Given the description of an element on the screen output the (x, y) to click on. 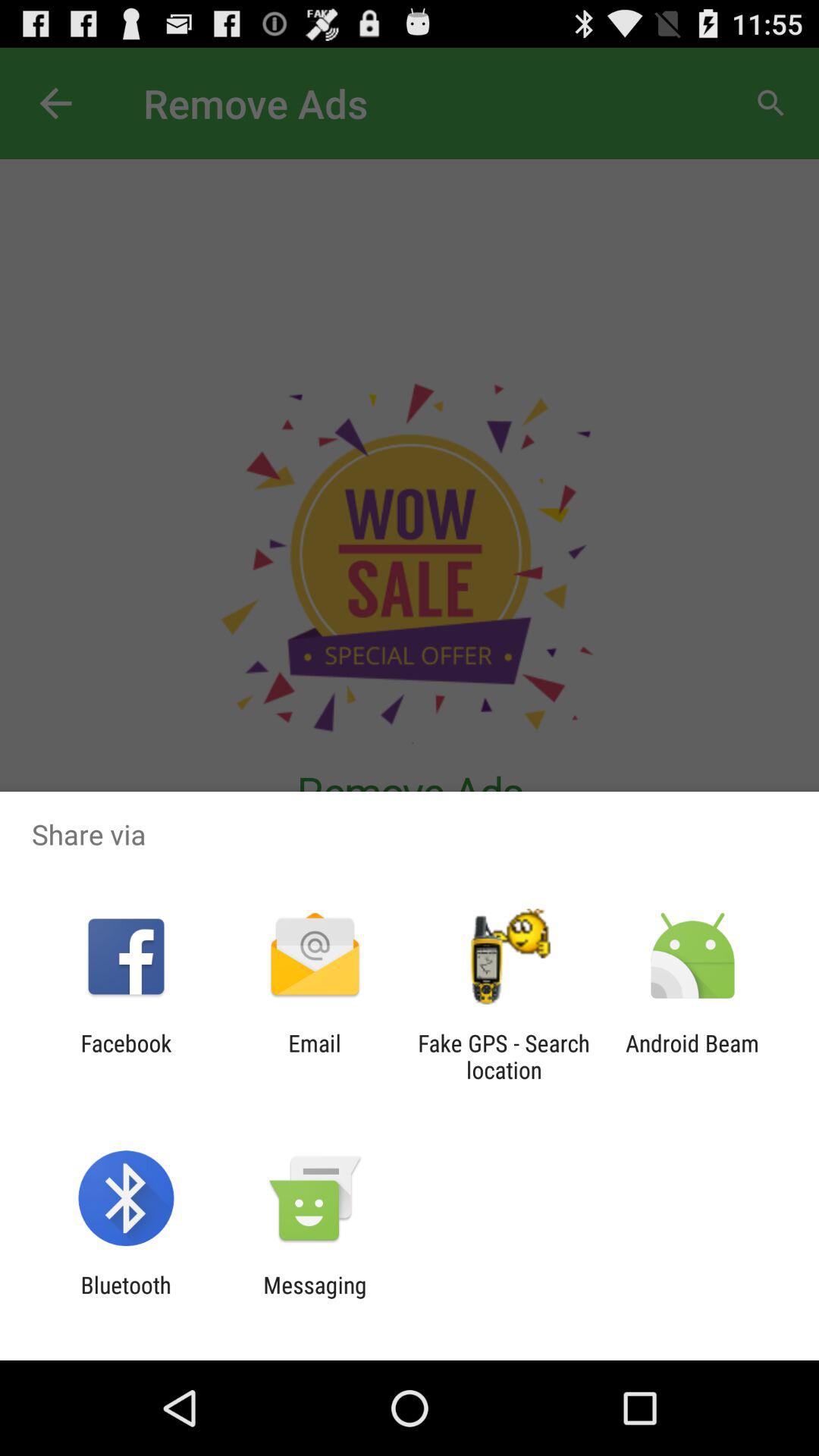
open messaging item (314, 1298)
